Given the description of an element on the screen output the (x, y) to click on. 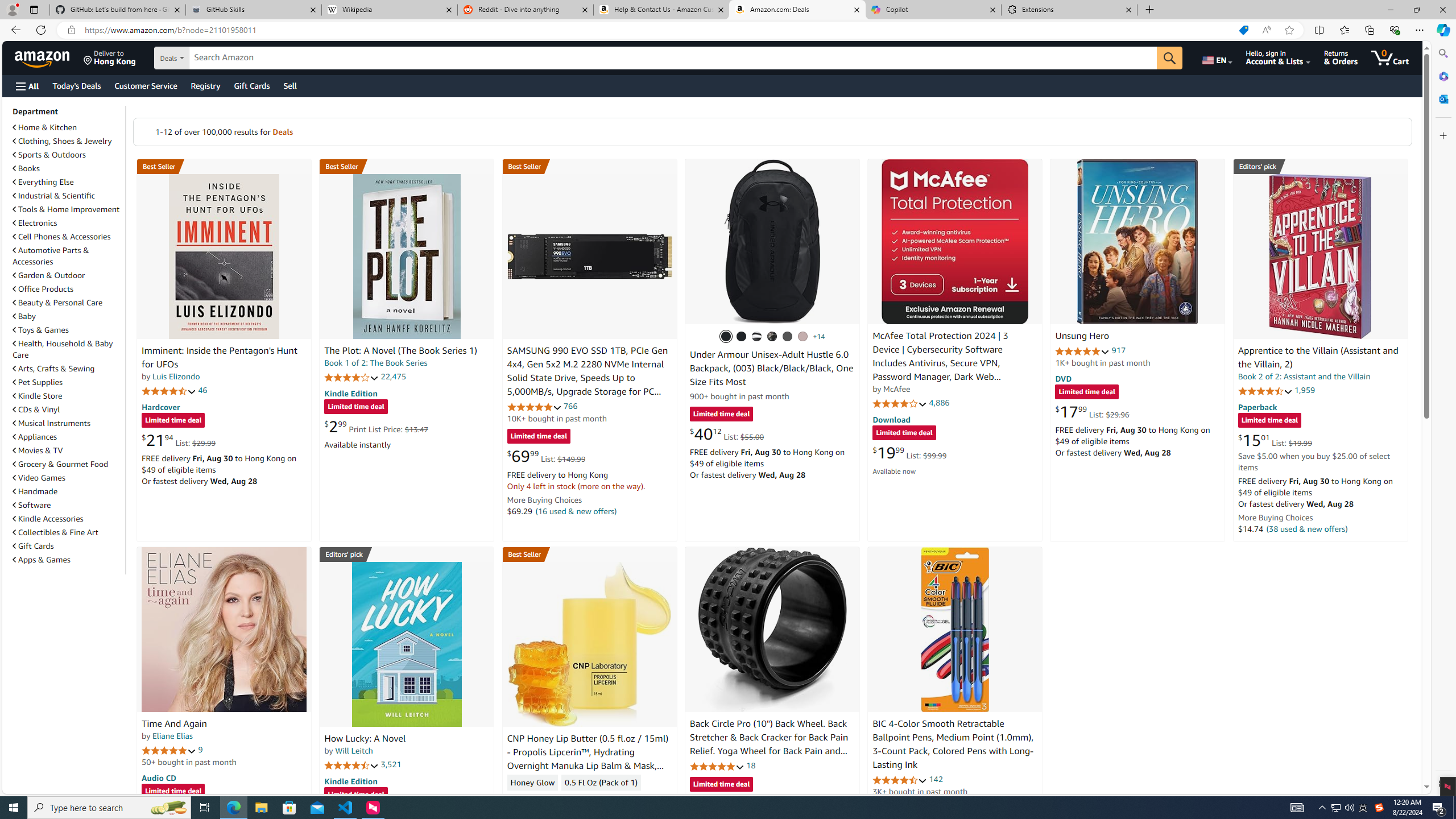
18 (750, 764)
Sports & Outdoors (49, 154)
4.2 out of 5 stars (352, 377)
Customer Service (145, 85)
Wikipedia (390, 9)
Eliane Elias (171, 735)
Settings (1442, 783)
4.7 out of 5 stars (168, 390)
Kindle Store (37, 395)
Appliances (34, 436)
Go (1169, 57)
Hello, sign in Account & Lists (1278, 57)
$15.01 List: $19.99 (1274, 439)
